Given the description of an element on the screen output the (x, y) to click on. 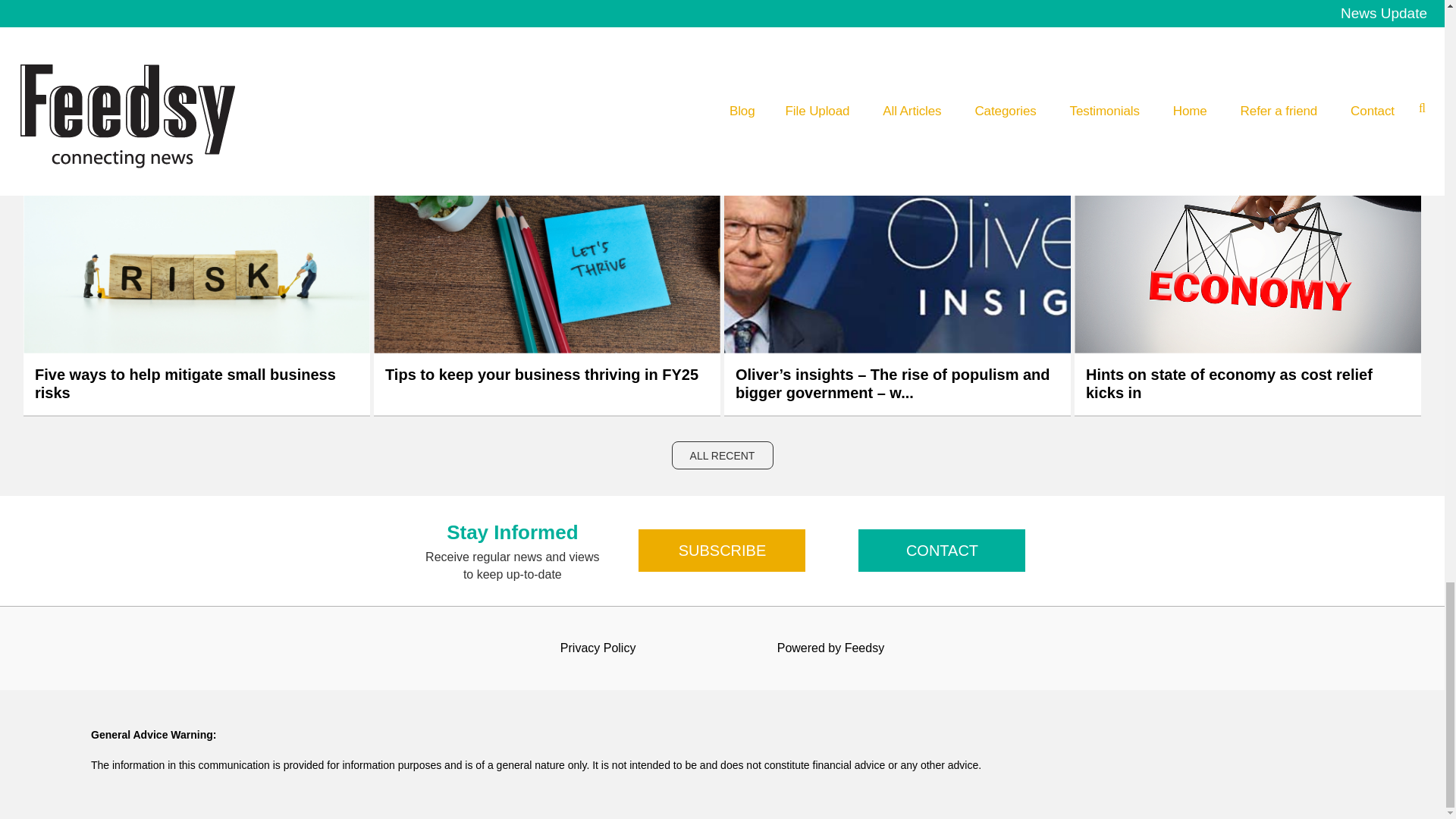
PREV (686, 11)
NEXT (759, 11)
Tips to keep your business thriving in FY25 (541, 383)
Five ways to help mitigate small business risks (196, 383)
